Given the description of an element on the screen output the (x, y) to click on. 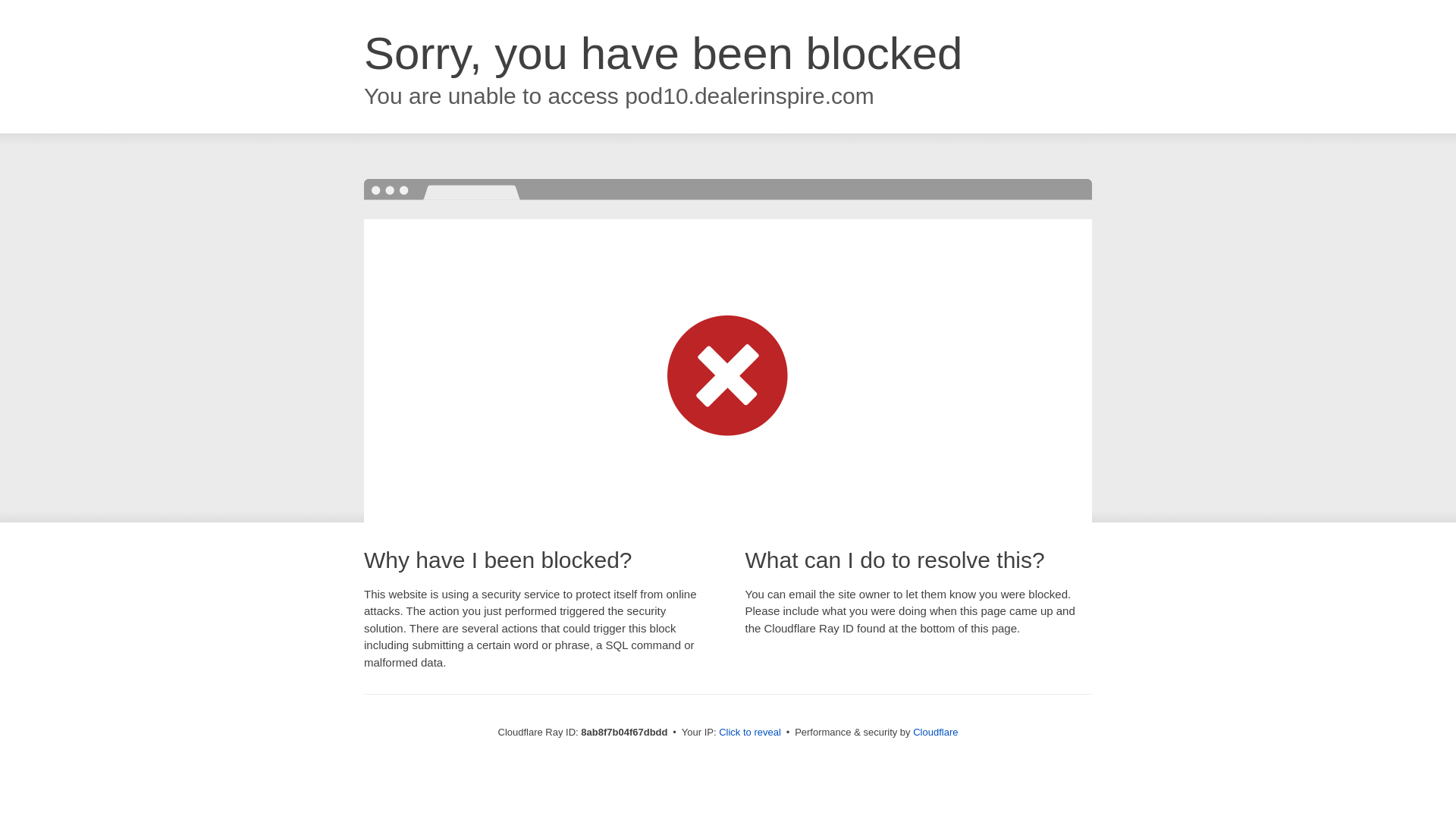
Click to reveal (749, 732)
Cloudflare (935, 731)
